Given the description of an element on the screen output the (x, y) to click on. 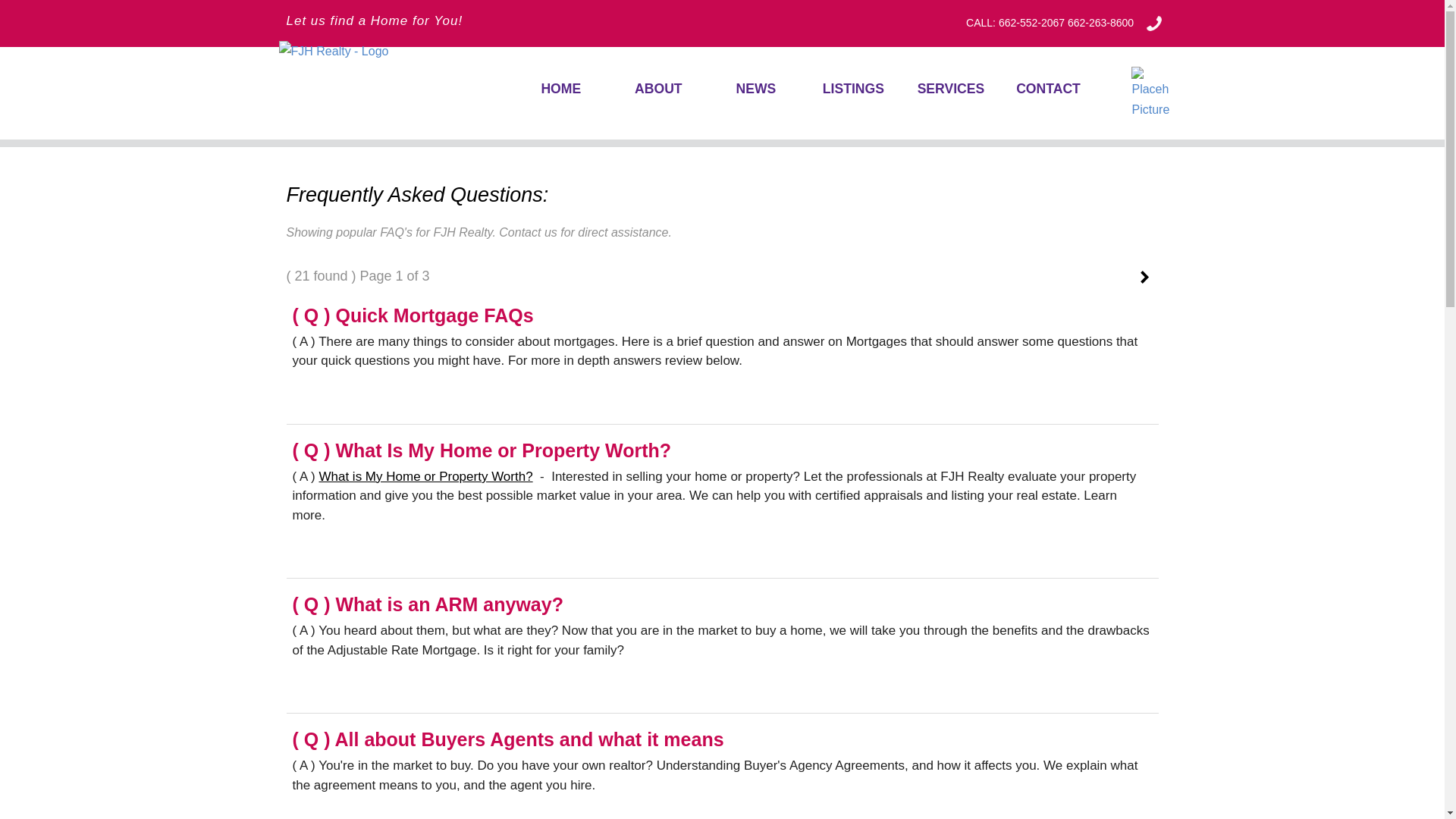
FJH Realty Detail FAQ Answer (481, 450)
FJH Realty Detail FAQ Answer (427, 604)
LISTINGS (853, 88)
Call FJH Realty (1050, 22)
FJH Realty - Homes For Sale (354, 50)
FJH Realty Detail FAQ Answer (413, 314)
ABOUT (658, 88)
Call FJH Realty (1153, 22)
Review Next FAQ Page (1148, 276)
CONTACT (1048, 88)
What is My Home or Property Worth?: FJH Realty (425, 476)
HOME (561, 88)
NEWS (756, 88)
FJH Realty Detail FAQ Answer (507, 739)
SERVICES (951, 88)
